Given the description of an element on the screen output the (x, y) to click on. 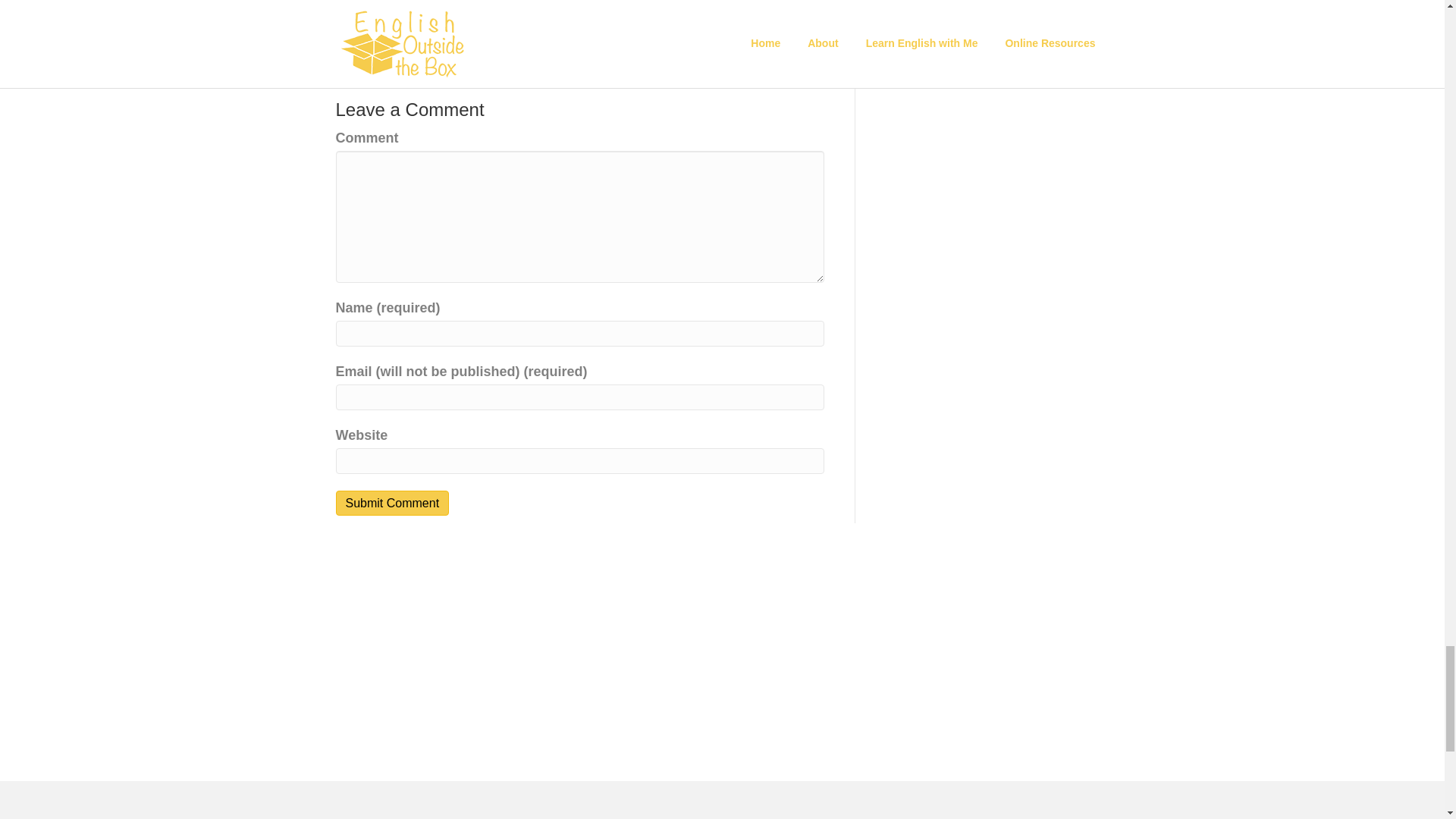
Submit Comment (391, 502)
Submit Comment (391, 502)
Reply (798, 68)
